Given the description of an element on the screen output the (x, y) to click on. 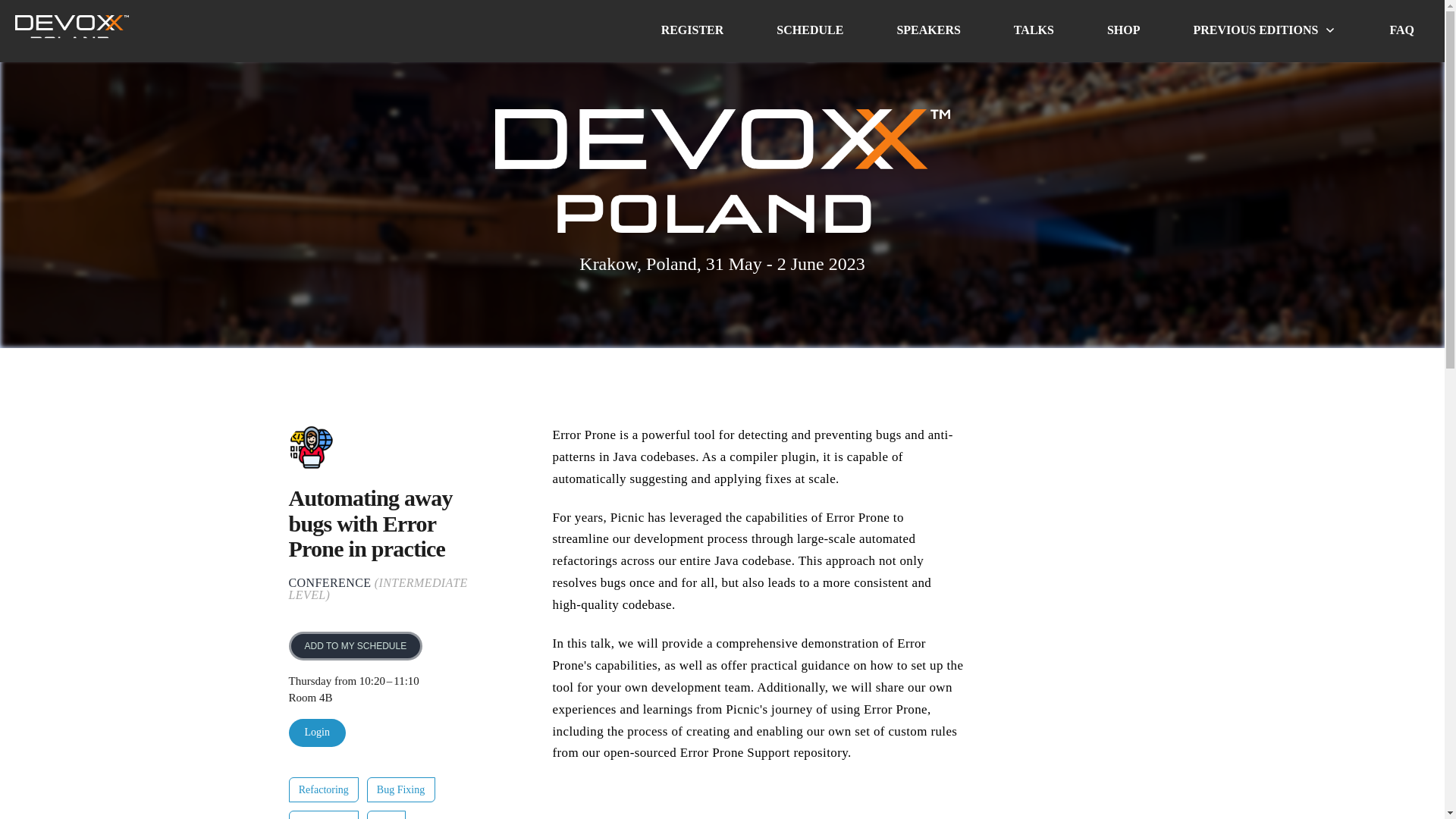
FAQ (1401, 30)
CONFERENCE (329, 582)
Refactoring (323, 789)
PREVIOUS EDITIONS (1264, 30)
Devoxx Poland white no head - krzywe (722, 170)
Large Scale (323, 818)
SPEAKERS (927, 30)
REGISTER (692, 30)
TALKS (1033, 30)
